Given the description of an element on the screen output the (x, y) to click on. 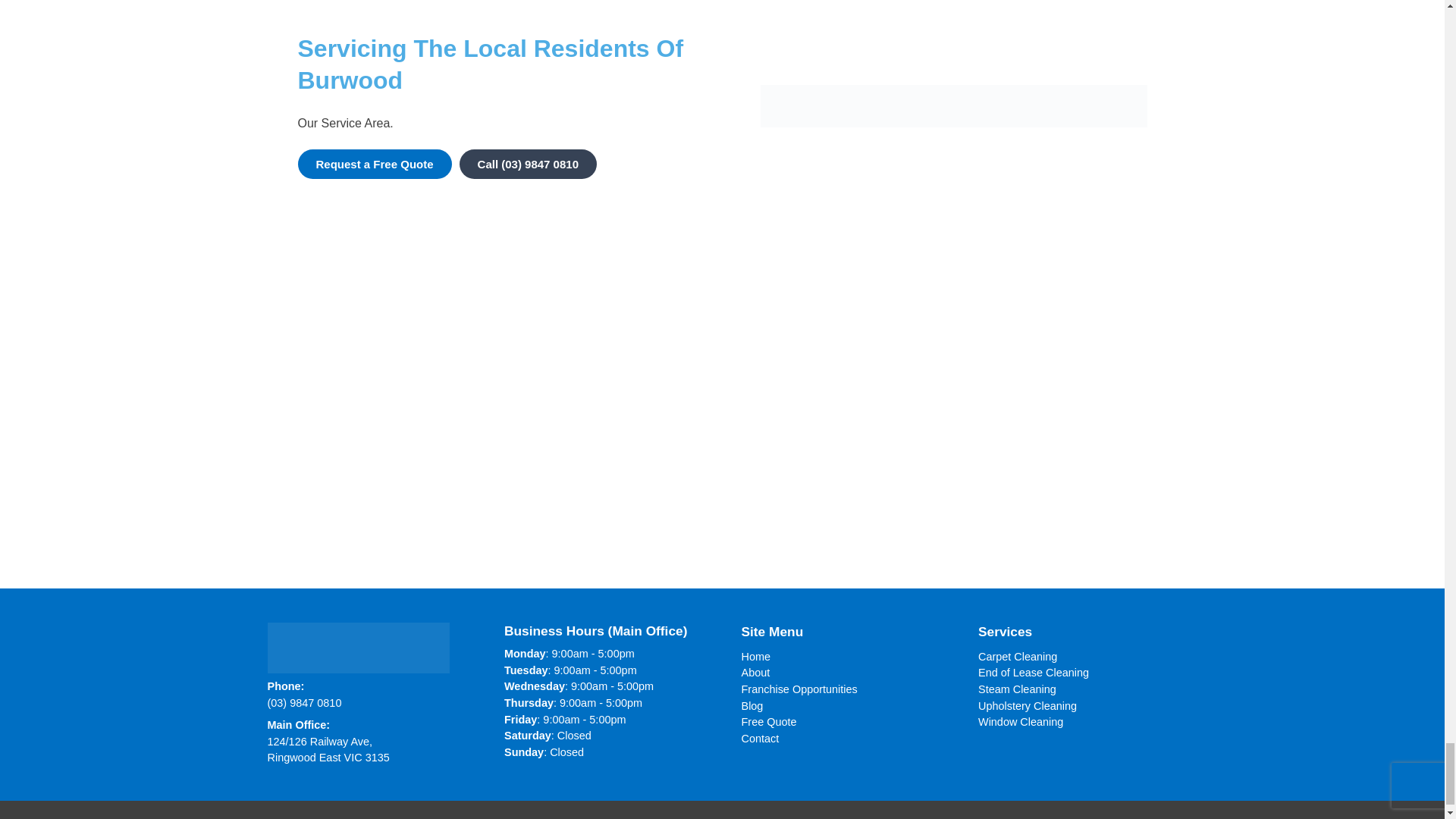
Burwood House Cleaning (953, 106)
